Given the description of an element on the screen output the (x, y) to click on. 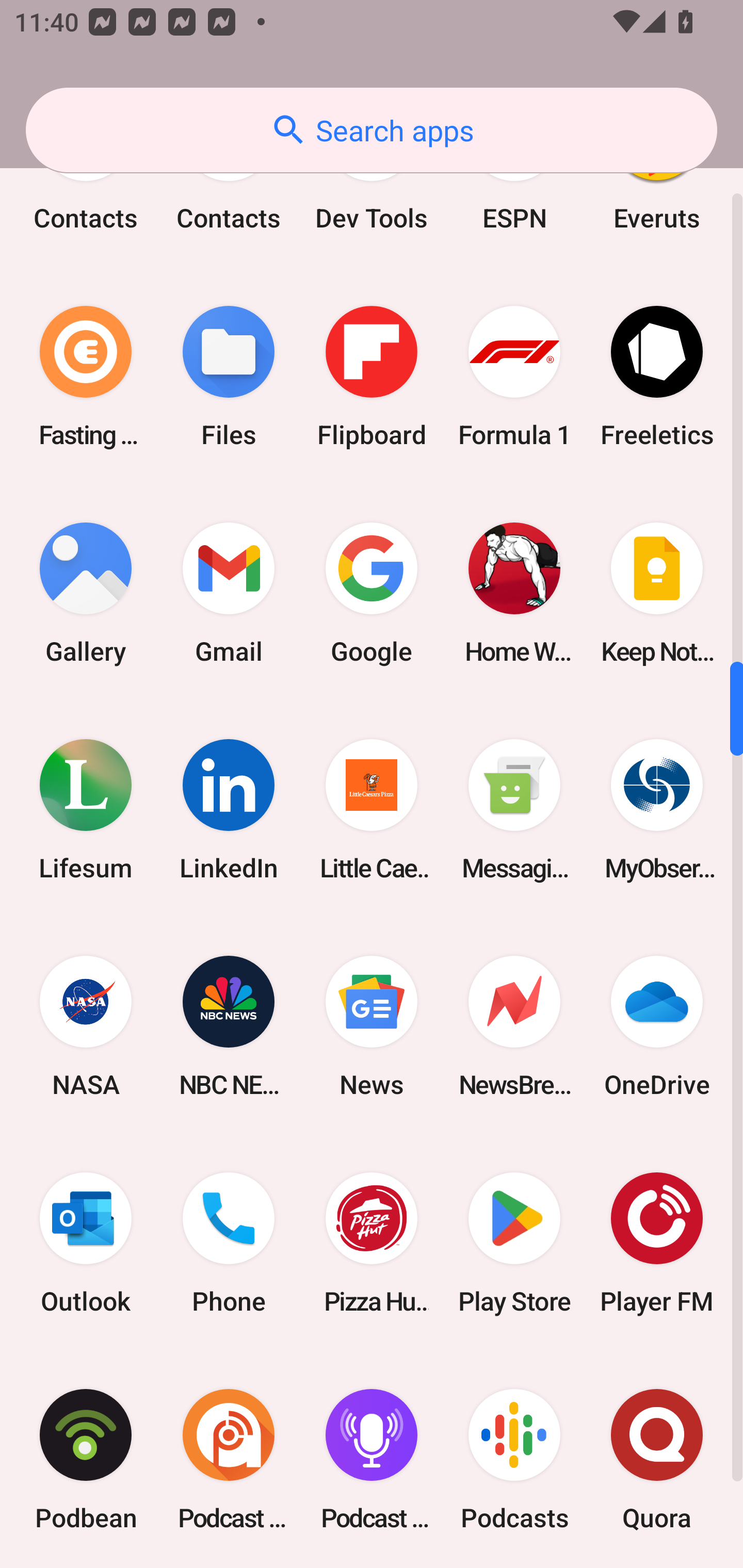
  Search apps (371, 130)
Fasting Coach (85, 376)
Files (228, 376)
Flipboard (371, 376)
Formula 1 (514, 376)
Freeletics (656, 376)
Gallery (85, 592)
Gmail (228, 592)
Google (371, 592)
Home Workout (514, 592)
Keep Notes (656, 592)
Lifesum (85, 809)
LinkedIn (228, 809)
Little Caesars Pizza (371, 809)
Messaging (514, 809)
MyObservatory (656, 809)
NASA (85, 1026)
NBC NEWS (228, 1026)
News (371, 1026)
NewsBreak (514, 1026)
OneDrive (656, 1026)
Outlook (85, 1243)
Phone (228, 1243)
Pizza Hut HK & Macau (371, 1243)
Play Store (514, 1243)
Player FM (656, 1243)
Podbean (85, 1459)
Podcast Addict (228, 1459)
Podcast Player (371, 1459)
Podcasts (514, 1459)
Quora (656, 1459)
